Given the description of an element on the screen output the (x, y) to click on. 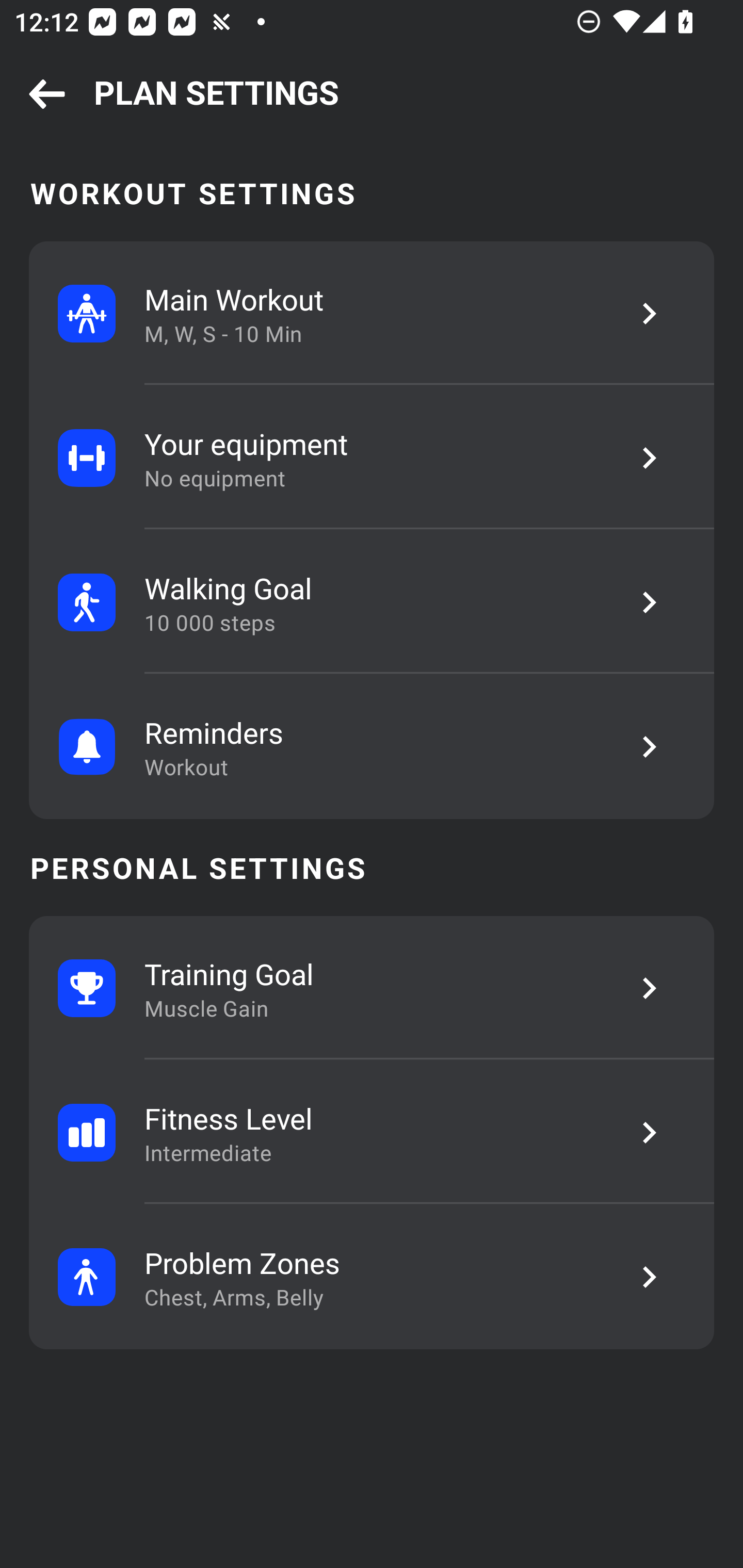
Navigation icon (46, 94)
EQUIPMENT Your equipment No equipment EQUIPMENT (371, 457)
REMINDERS Reminders Workout REMINDERS (371, 746)
